Given the description of an element on the screen output the (x, y) to click on. 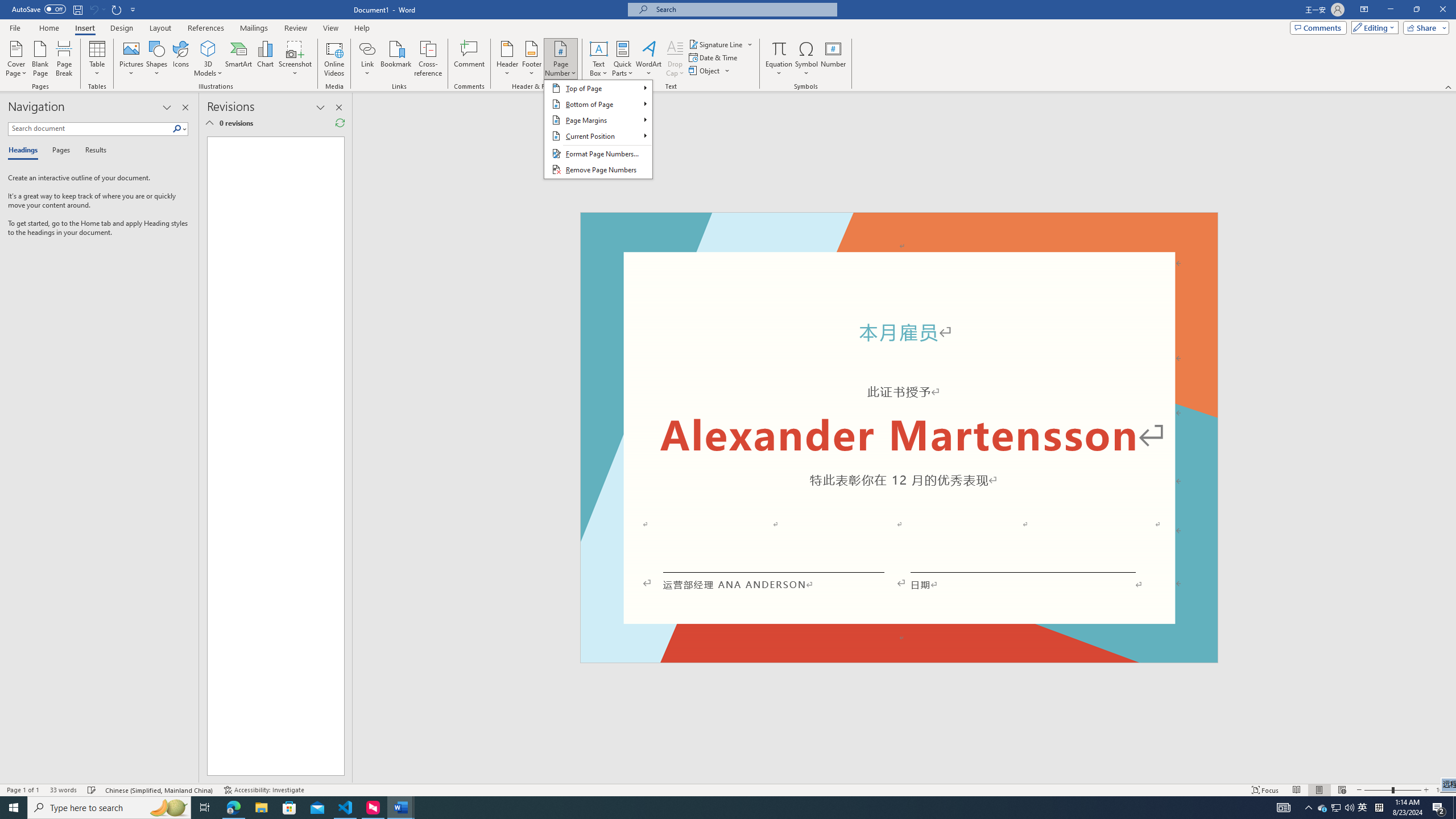
Word - 2 running windows (400, 807)
Online Videos... (333, 58)
Symbol (1362, 807)
Visual Studio Code - 1 running window (806, 58)
Show desktop (345, 807)
Microsoft Store (1454, 807)
